Given the description of an element on the screen output the (x, y) to click on. 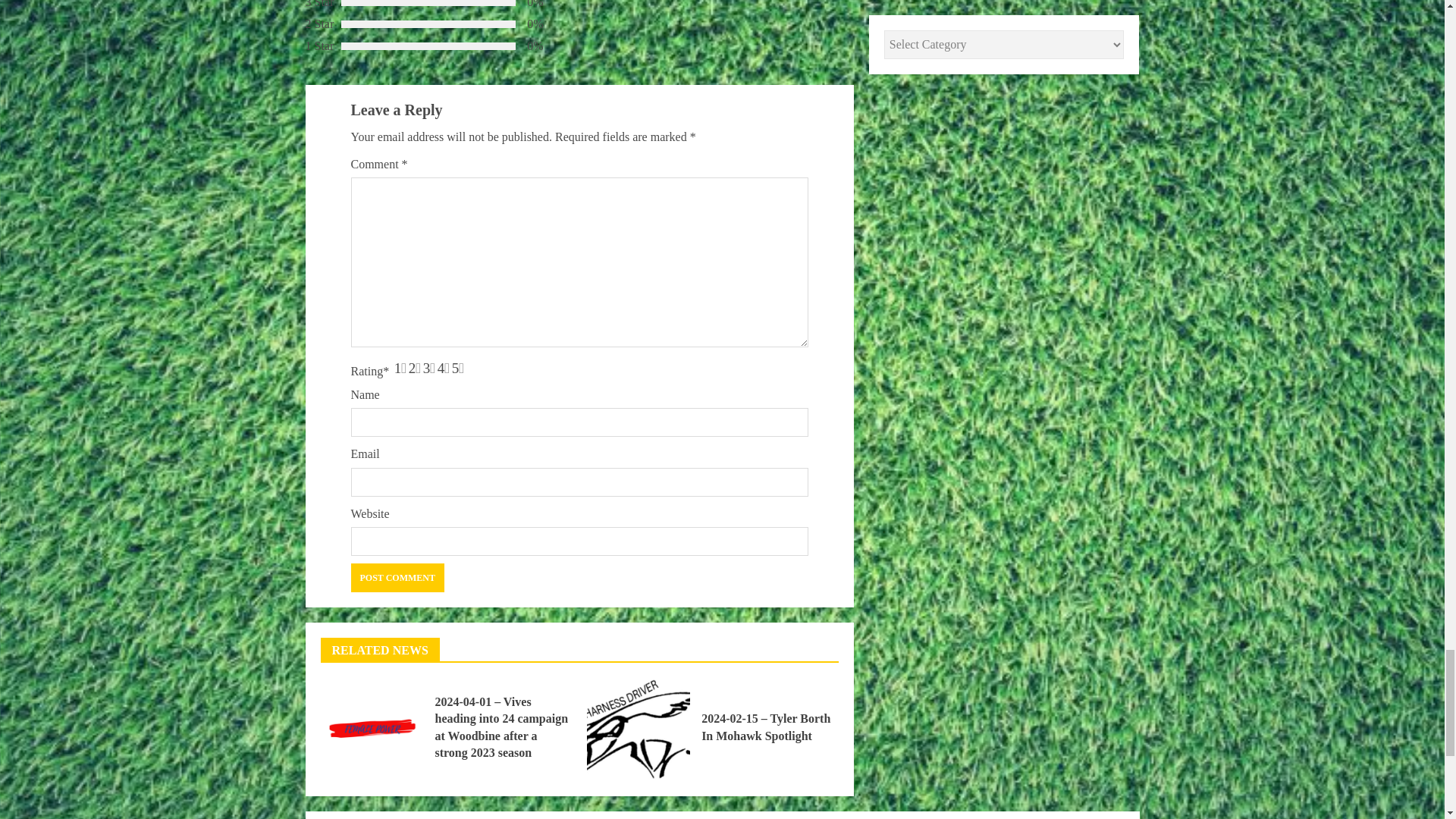
Post Comment (397, 577)
